Given the description of an element on the screen output the (x, y) to click on. 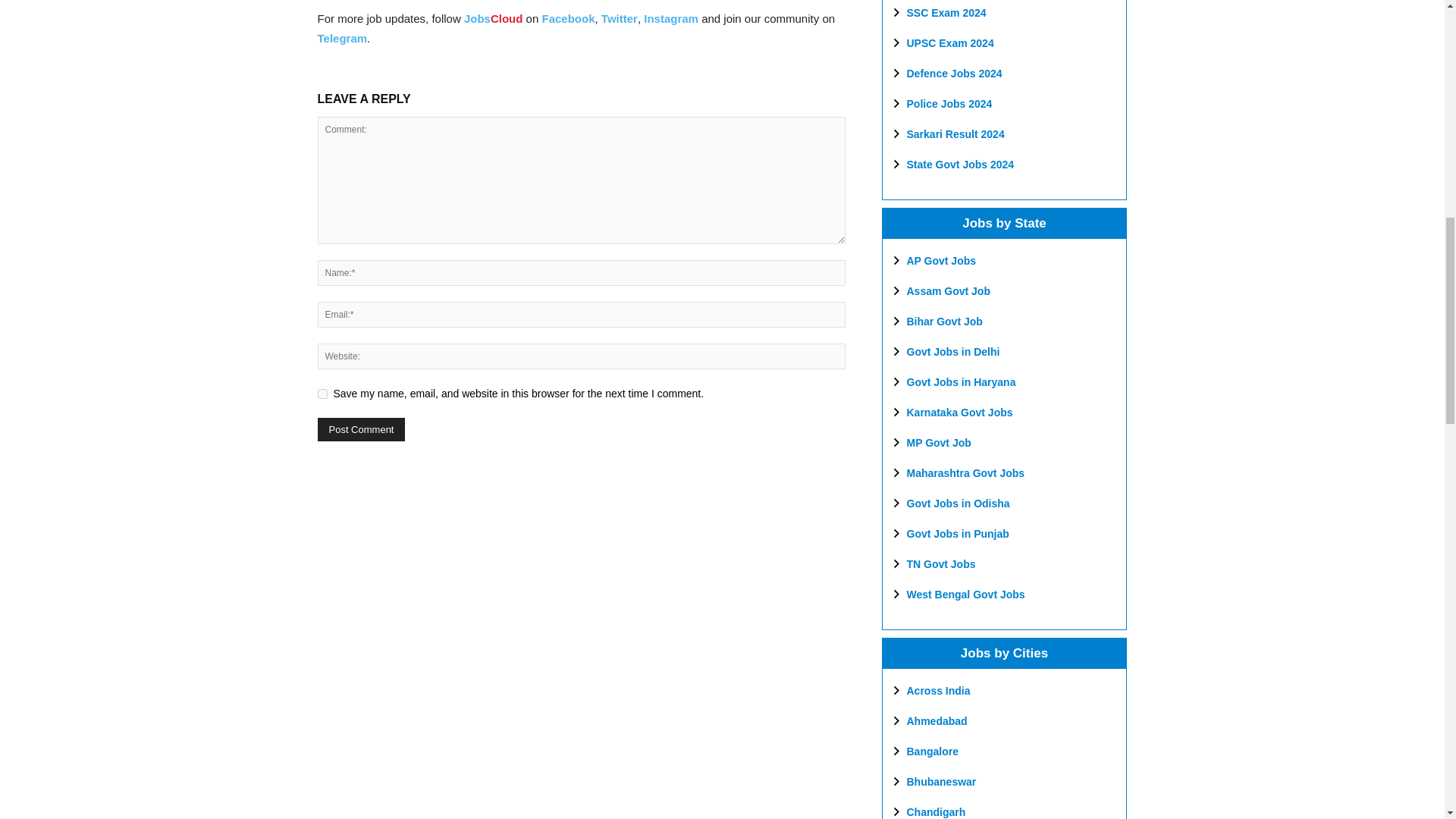
Jobs in Chandigarh (936, 811)
Post Comment (360, 429)
yes (321, 393)
Jobs Across India (939, 690)
Jobs in Ahmedabad (937, 720)
Jobs in Bhubaneswar (941, 781)
Jobs in Bangalore (932, 751)
